Given the description of an element on the screen output the (x, y) to click on. 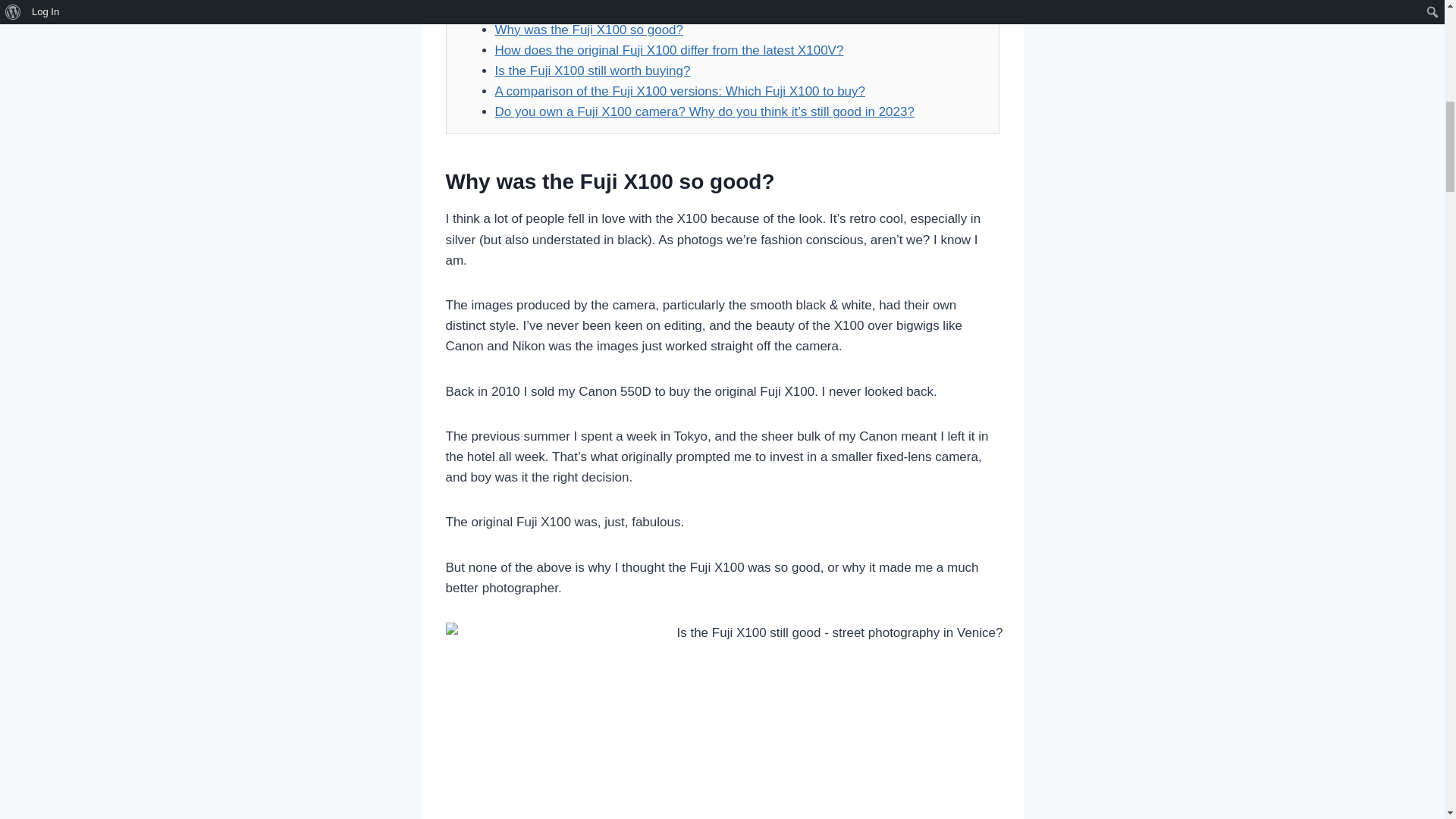
Why was the Fuji X100 so good? (588, 29)
Is the Fuji X100 still worth buying? (592, 70)
